Given the description of an element on the screen output the (x, y) to click on. 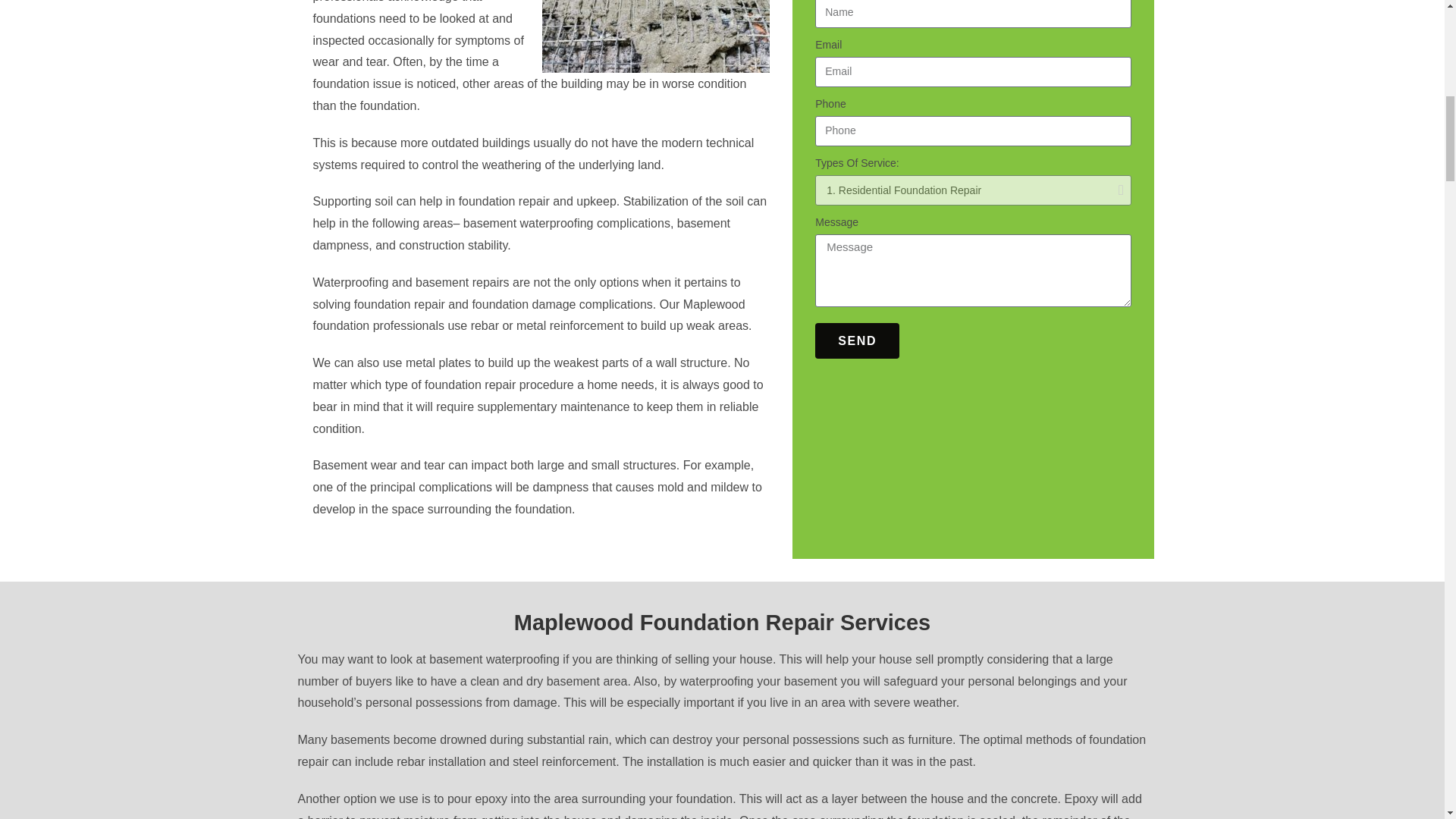
SEND (857, 340)
